Given the description of an element on the screen output the (x, y) to click on. 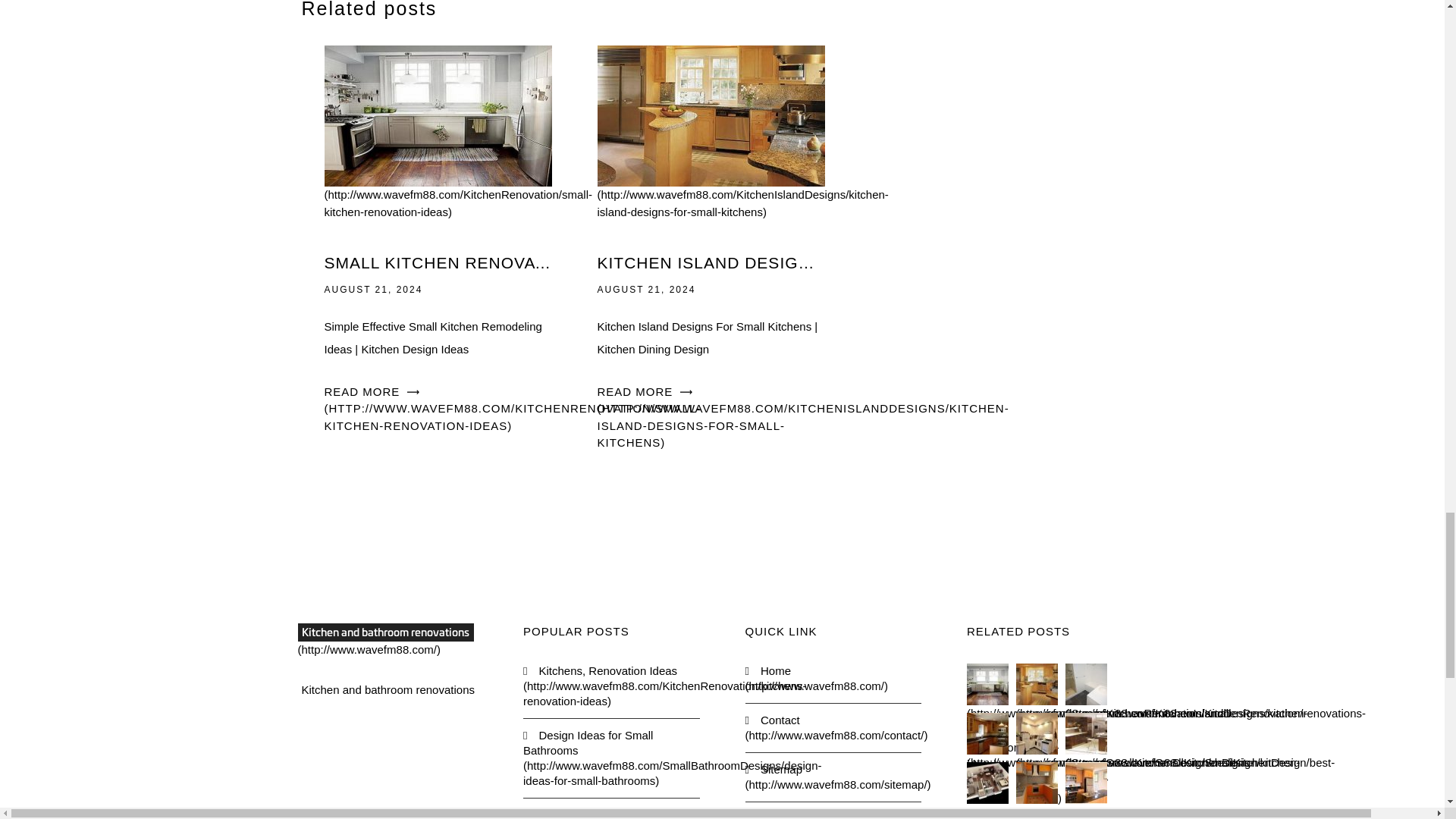
READ MORE (512, 408)
Small kitchen Renovation Ideas (458, 163)
READ MORE (802, 416)
Kitchen island Designs For Small Kitchens (742, 163)
KITCHEN ISLAND DESIGNS FOR SMALL KITCHENS (710, 262)
SMALL KITCHEN RENOVATION IDEAS (437, 262)
